Given the description of an element on the screen output the (x, y) to click on. 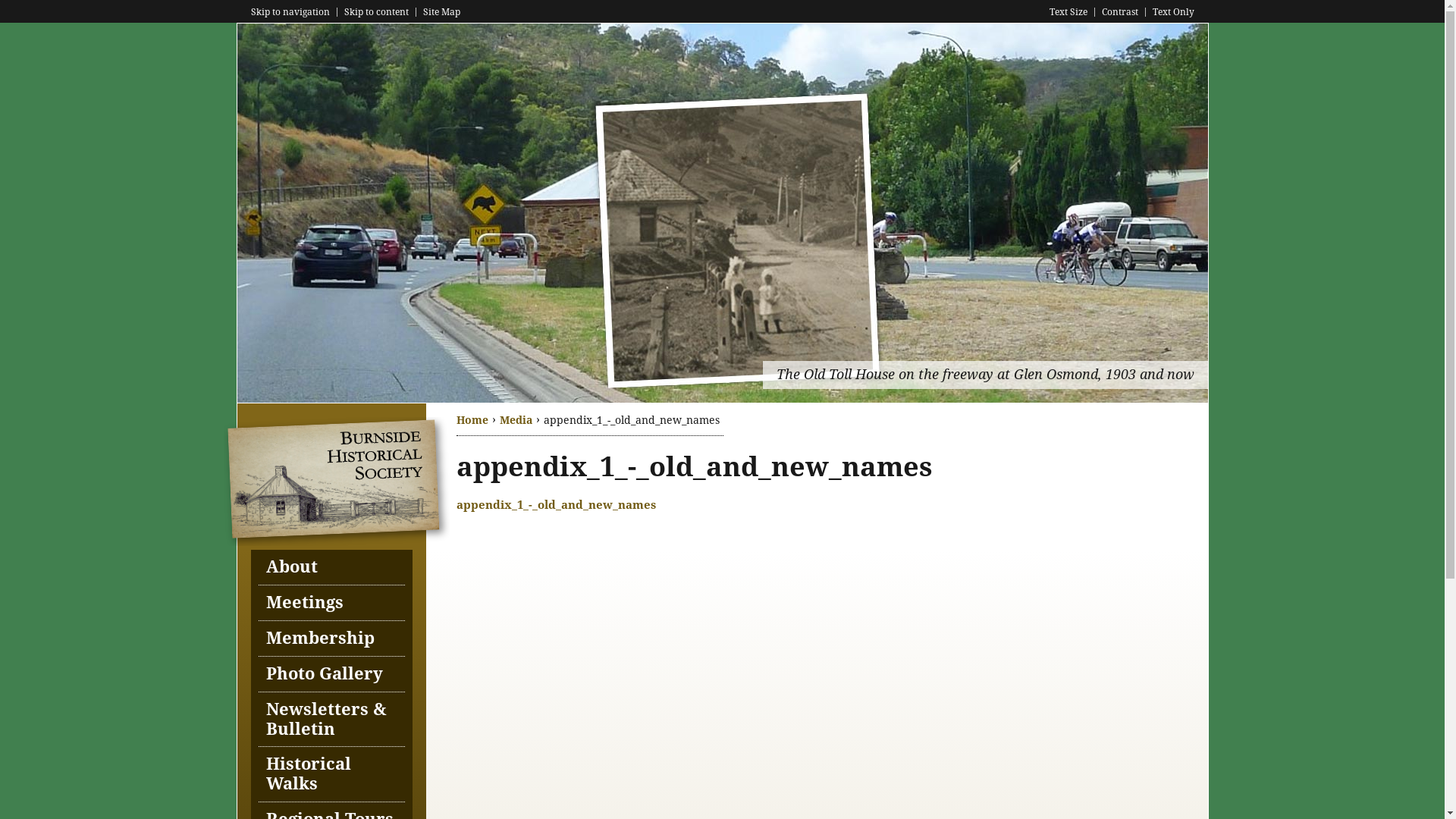
Skip to navigation Element type: text (289, 12)
Photo Gallery Element type: text (330, 674)
Home Element type: hover (342, 542)
Membership Element type: text (330, 638)
Newsletters & Bulletin Element type: text (330, 719)
Skip to content Element type: text (376, 12)
Text Size Element type: text (1068, 12)
Historical Walks Element type: text (330, 774)
Contrast Element type: text (1119, 12)
Site Map Element type: text (441, 12)
Home Element type: text (472, 420)
appendix_1_-_old_and_new_names Element type: text (555, 504)
About Element type: text (330, 567)
Media Element type: text (514, 420)
appendix_1_-_old_and_new_names Element type: text (694, 466)
Meetings Element type: text (330, 603)
Text Only Element type: text (1173, 12)
